Given the description of an element on the screen output the (x, y) to click on. 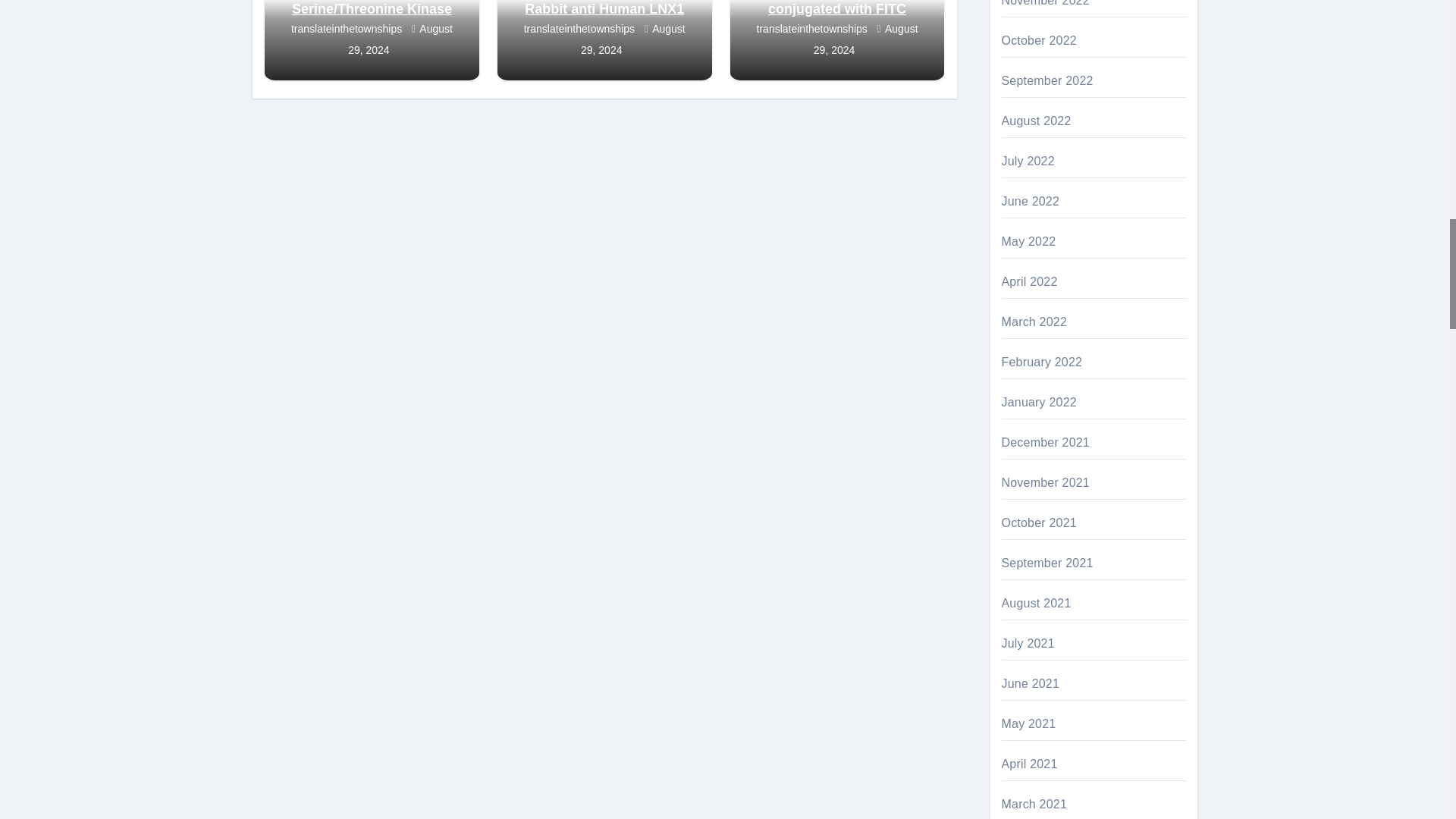
translateinthetownships (347, 28)
Permalink to: Rabbit anti Human LNX1 (604, 8)
August 29, 2024 (399, 39)
